Given the description of an element on the screen output the (x, y) to click on. 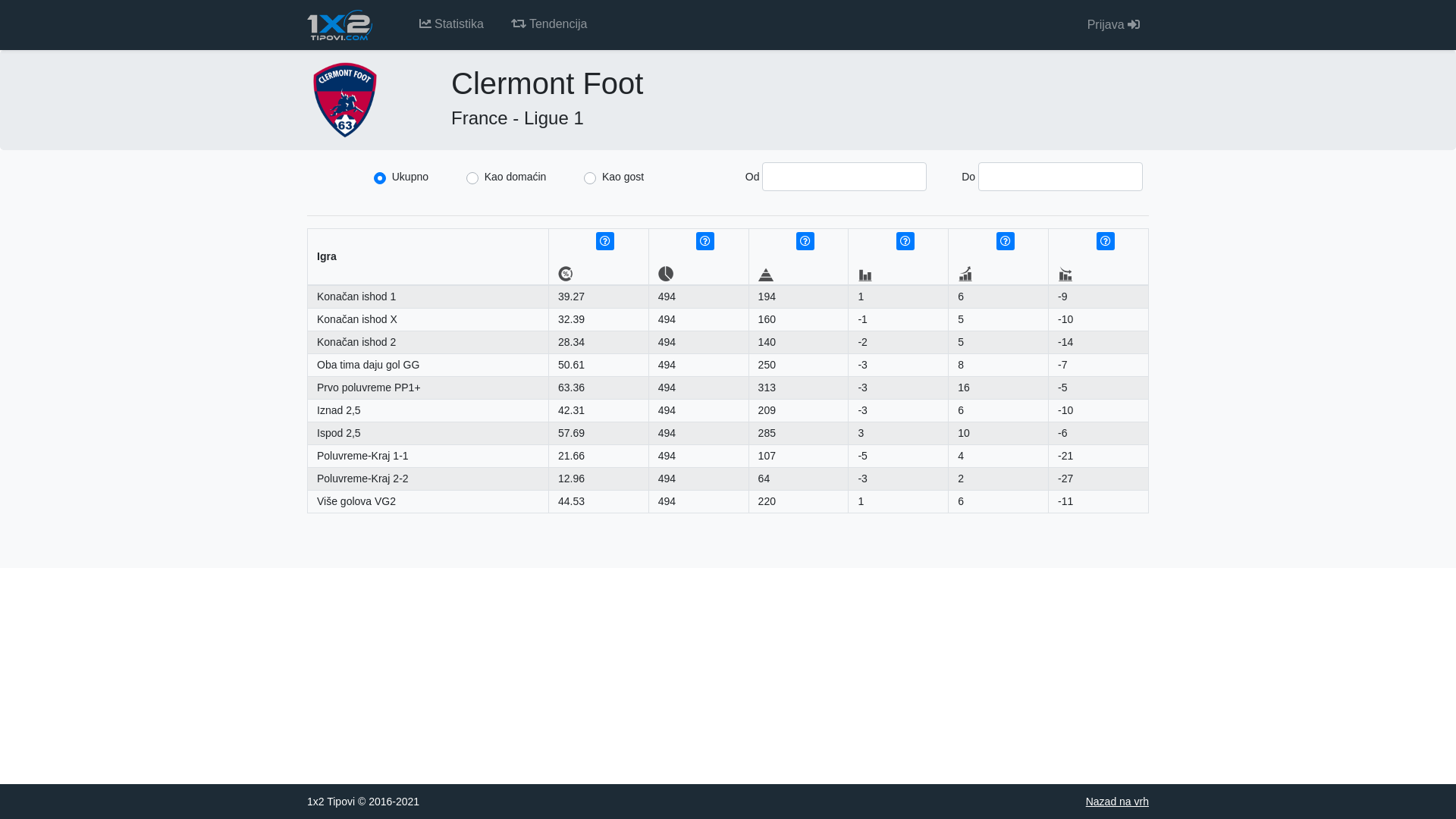
Statistika Element type: text (451, 23)
Prijava Element type: text (1113, 24)
Tendencija Element type: text (548, 23)
Nazad na vrh Element type: text (1116, 801)
